Given the description of an element on the screen output the (x, y) to click on. 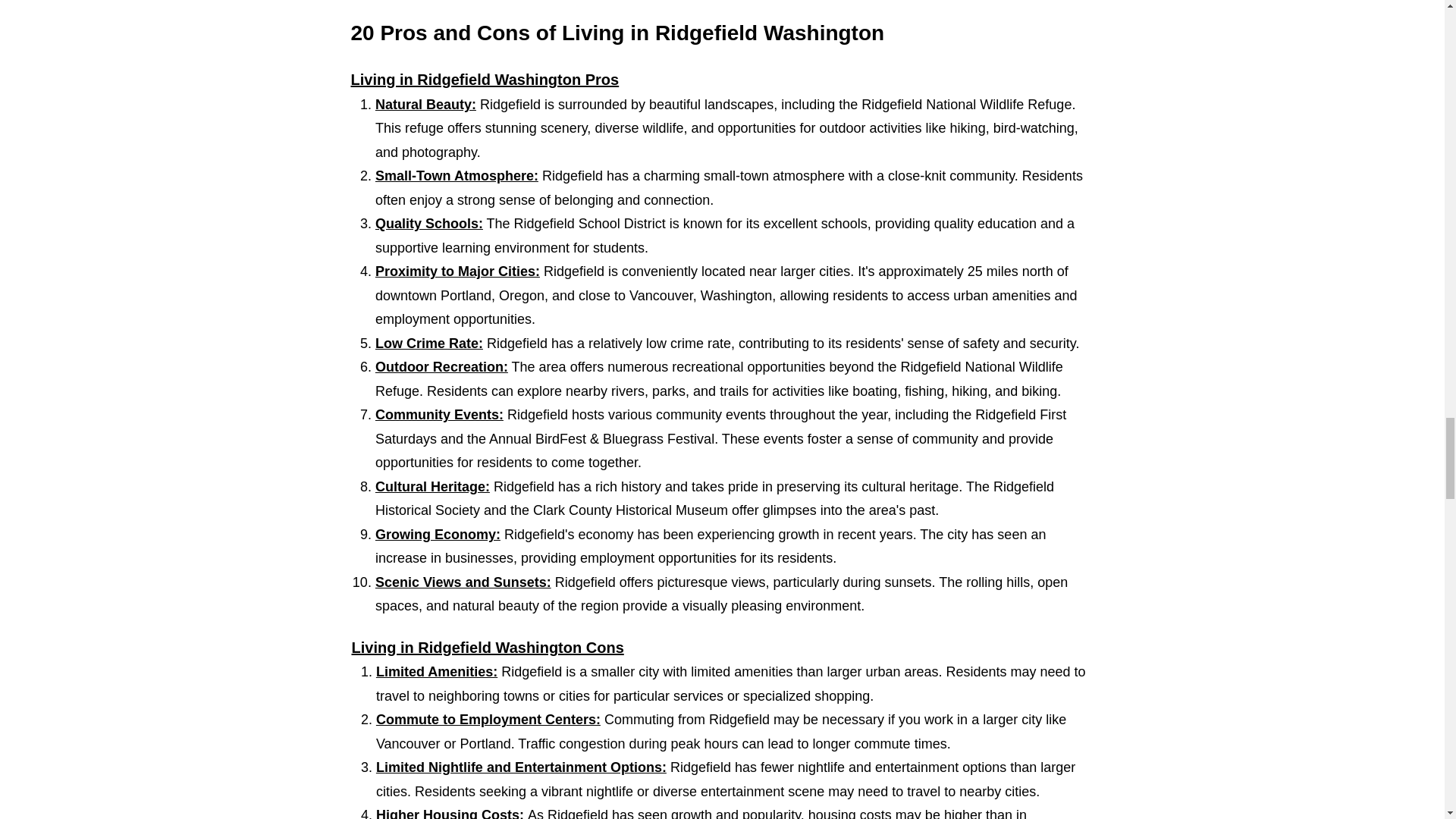
Early Morning in Ridgefield Washington, Lake River (721, 6)
